Given the description of an element on the screen output the (x, y) to click on. 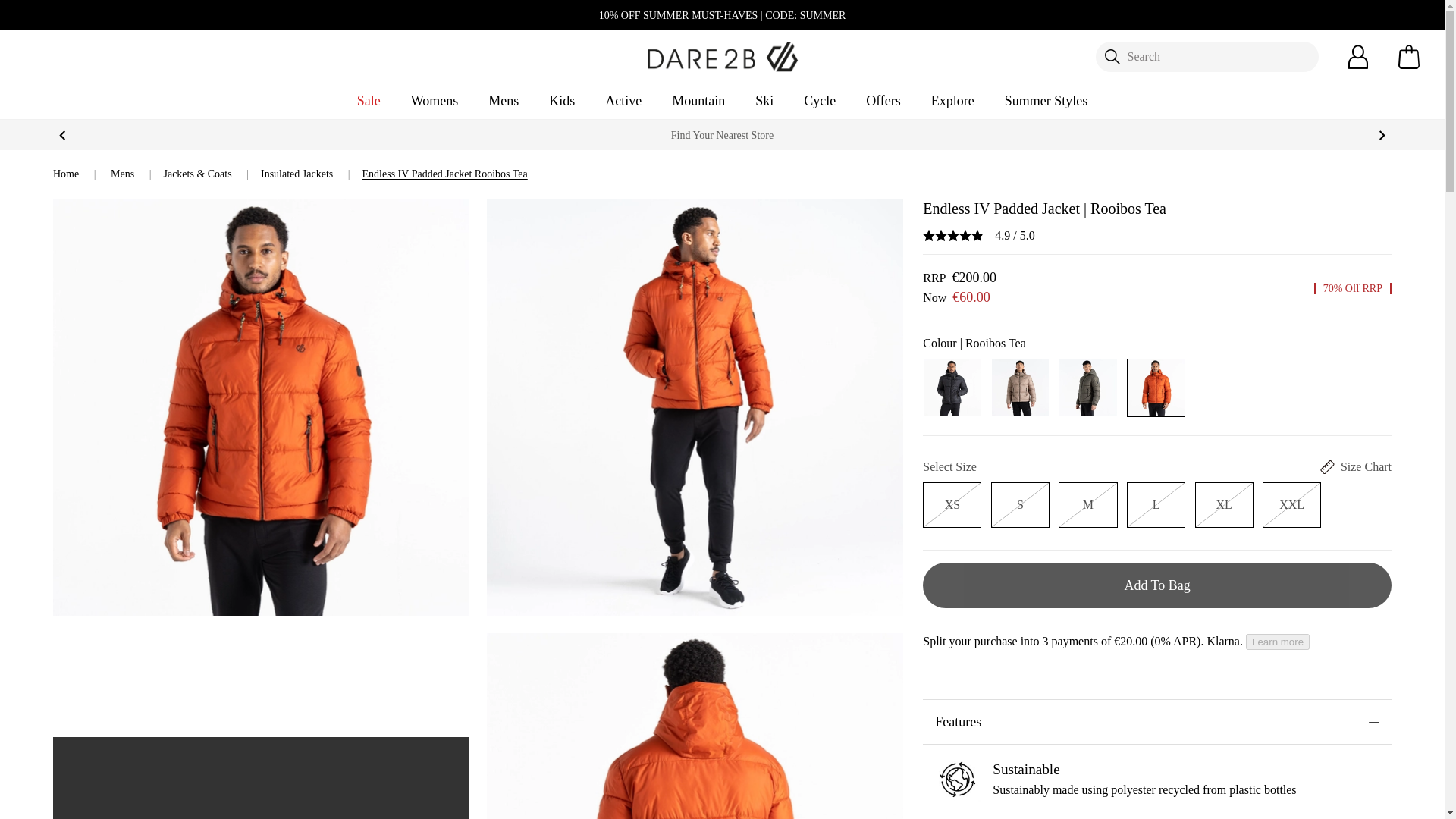
Rooibos Tea (1155, 386)
Sale (368, 100)
Search (1205, 56)
Black (951, 386)
Clay (1019, 386)
Home Page (721, 55)
Green Lichen  (1087, 386)
